Given the description of an element on the screen output the (x, y) to click on. 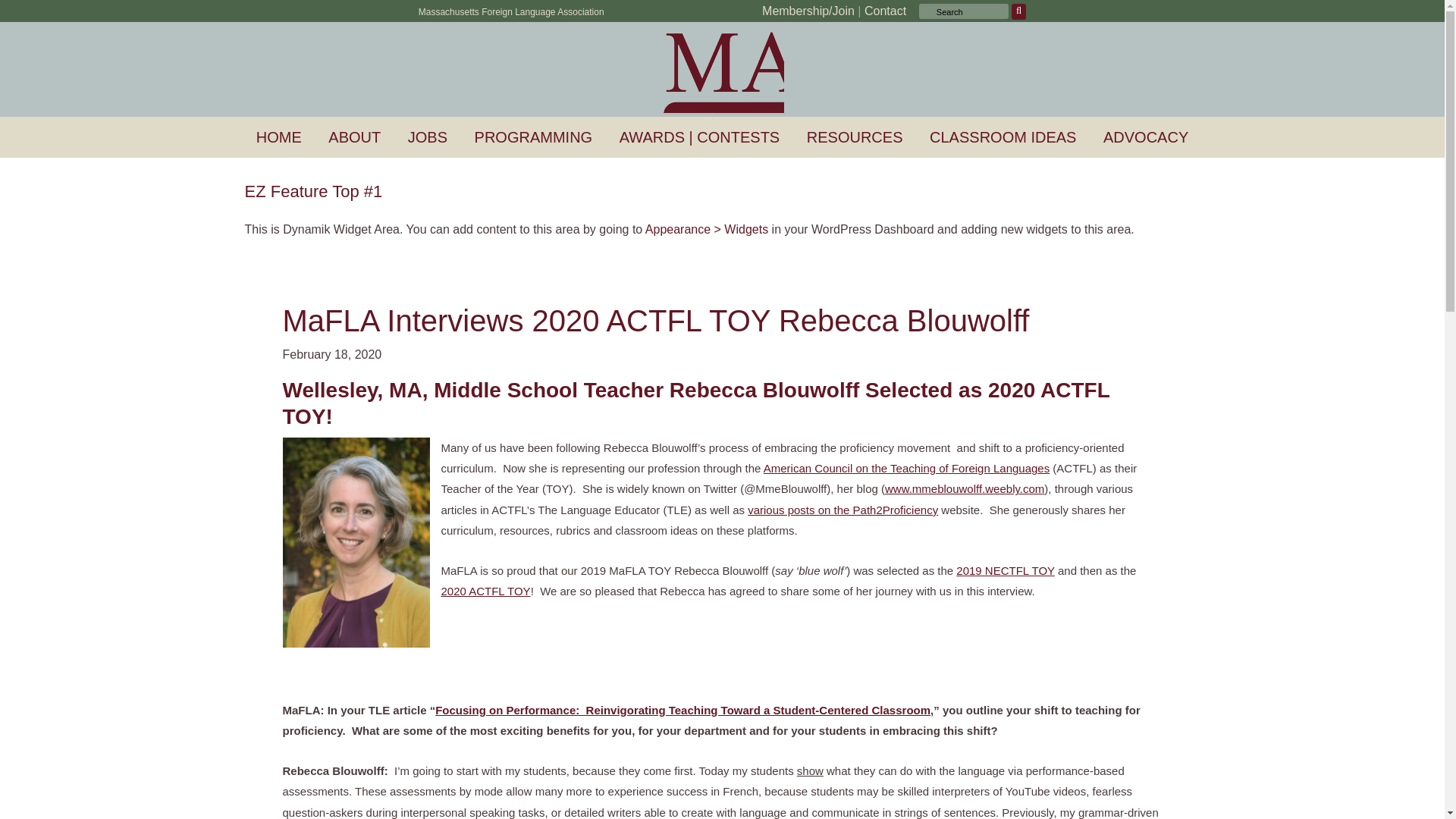
JOBS (427, 137)
HOME (278, 137)
MaFLA (736, 71)
Contact (884, 10)
Submit (1018, 10)
Massachusetts Foreign Language Association (511, 10)
RESOURCES (854, 137)
ABOUT (354, 137)
PROGRAMMING (533, 137)
